Given the description of an element on the screen output the (x, y) to click on. 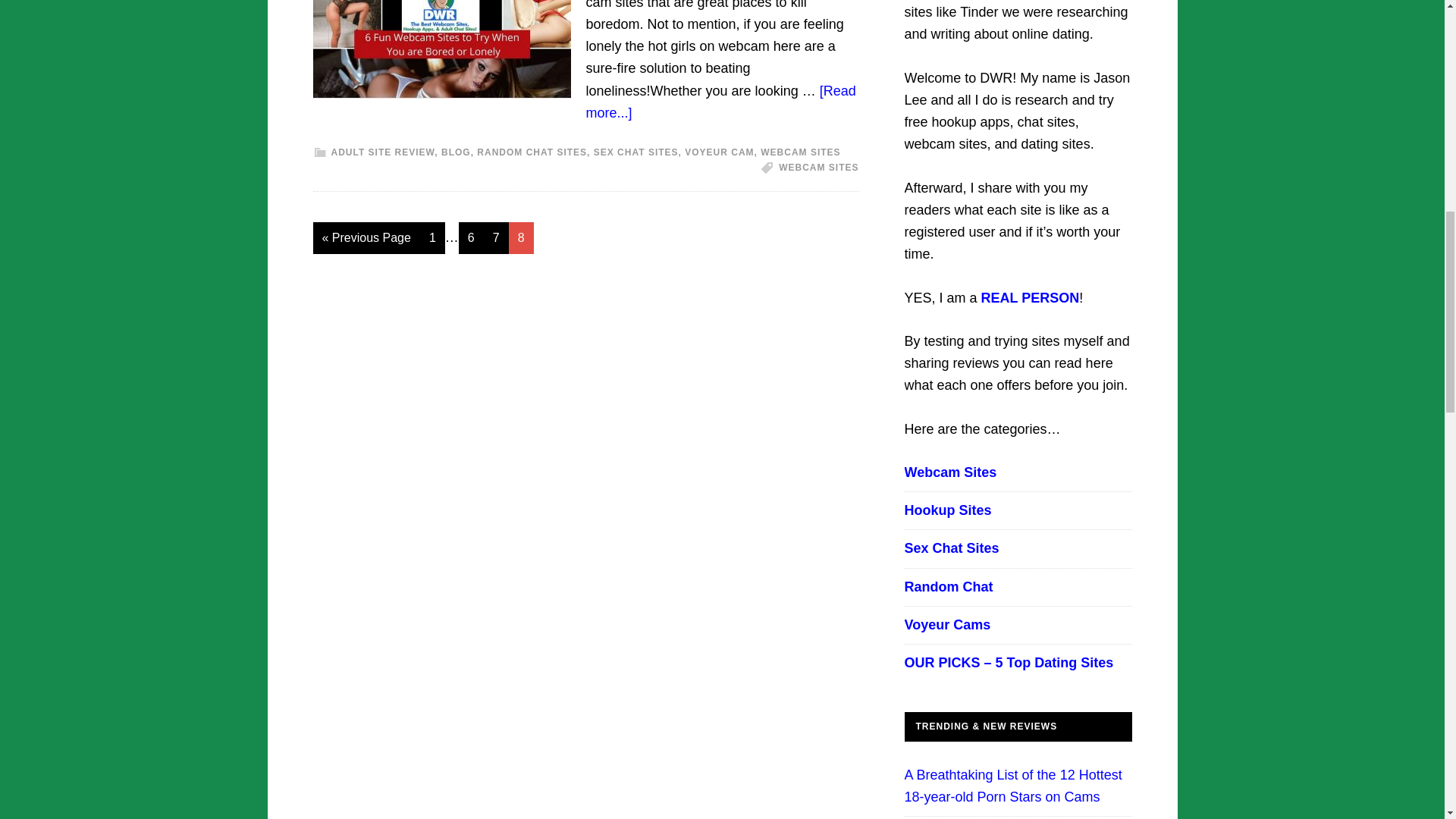
WEBCAM SITES (800, 152)
SEX CHAT SITES (636, 152)
Hookup Sites (947, 509)
Sex Chat Sites (951, 548)
REAL PERSON (1030, 297)
VOYEUR CAM (719, 152)
ADULT SITE REVIEW (381, 152)
Webcam Sites (949, 472)
BLOG (455, 152)
RANDOM CHAT SITES (531, 152)
